Given the description of an element on the screen output the (x, y) to click on. 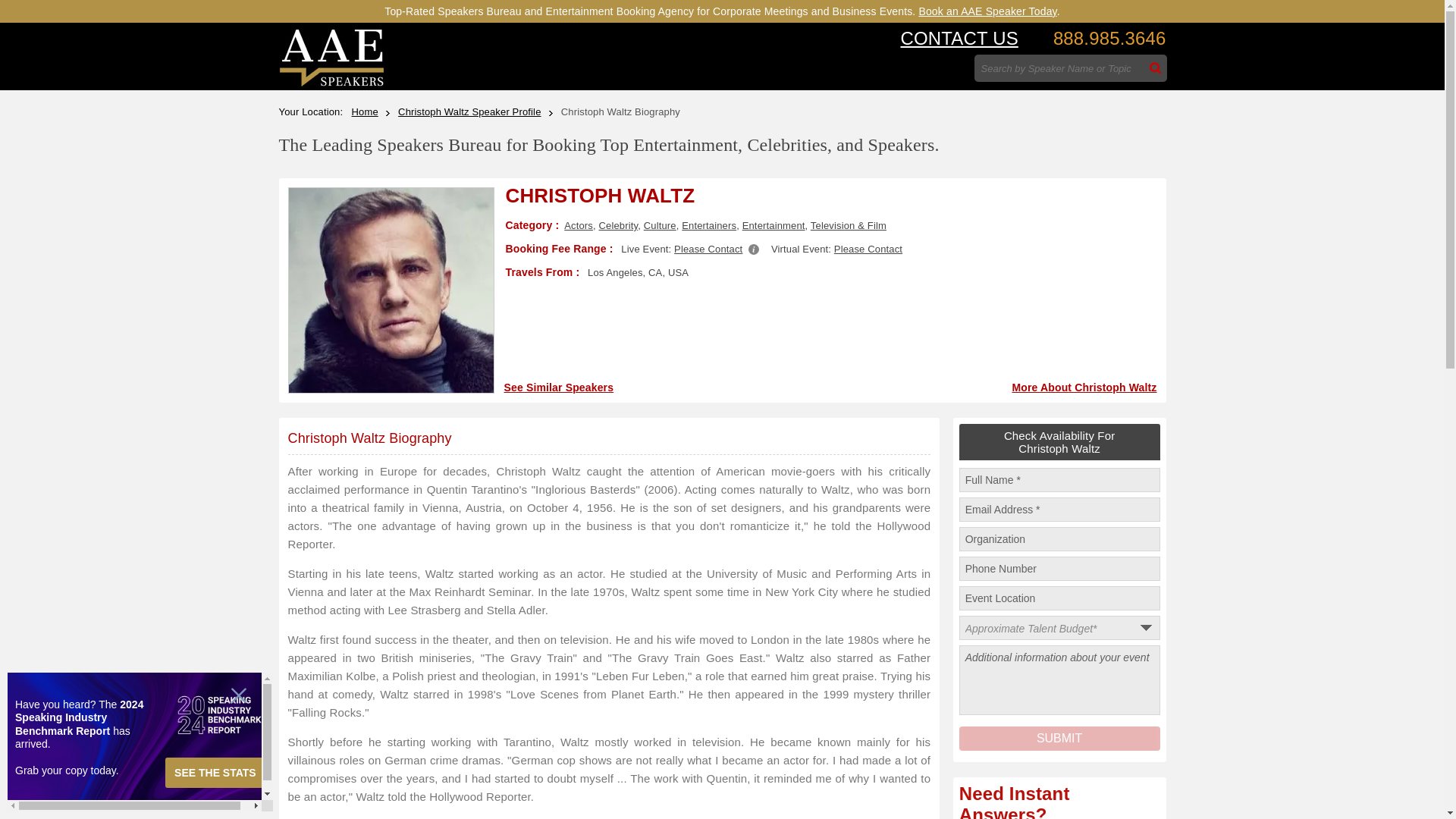
Please Contact (708, 248)
See Similar Speakers (557, 387)
Popup CTA (140, 741)
Entertainment (773, 225)
Celebrity (618, 225)
Entertainers (708, 225)
Christoph Waltz Biography (369, 437)
More About Christoph Waltz (1083, 387)
Speakers Bureau (331, 83)
Actors (578, 225)
Please Contact (868, 248)
Search (1155, 68)
SUBMIT (1059, 738)
Home (371, 111)
CONTACT US (959, 38)
